Given the description of an element on the screen output the (x, y) to click on. 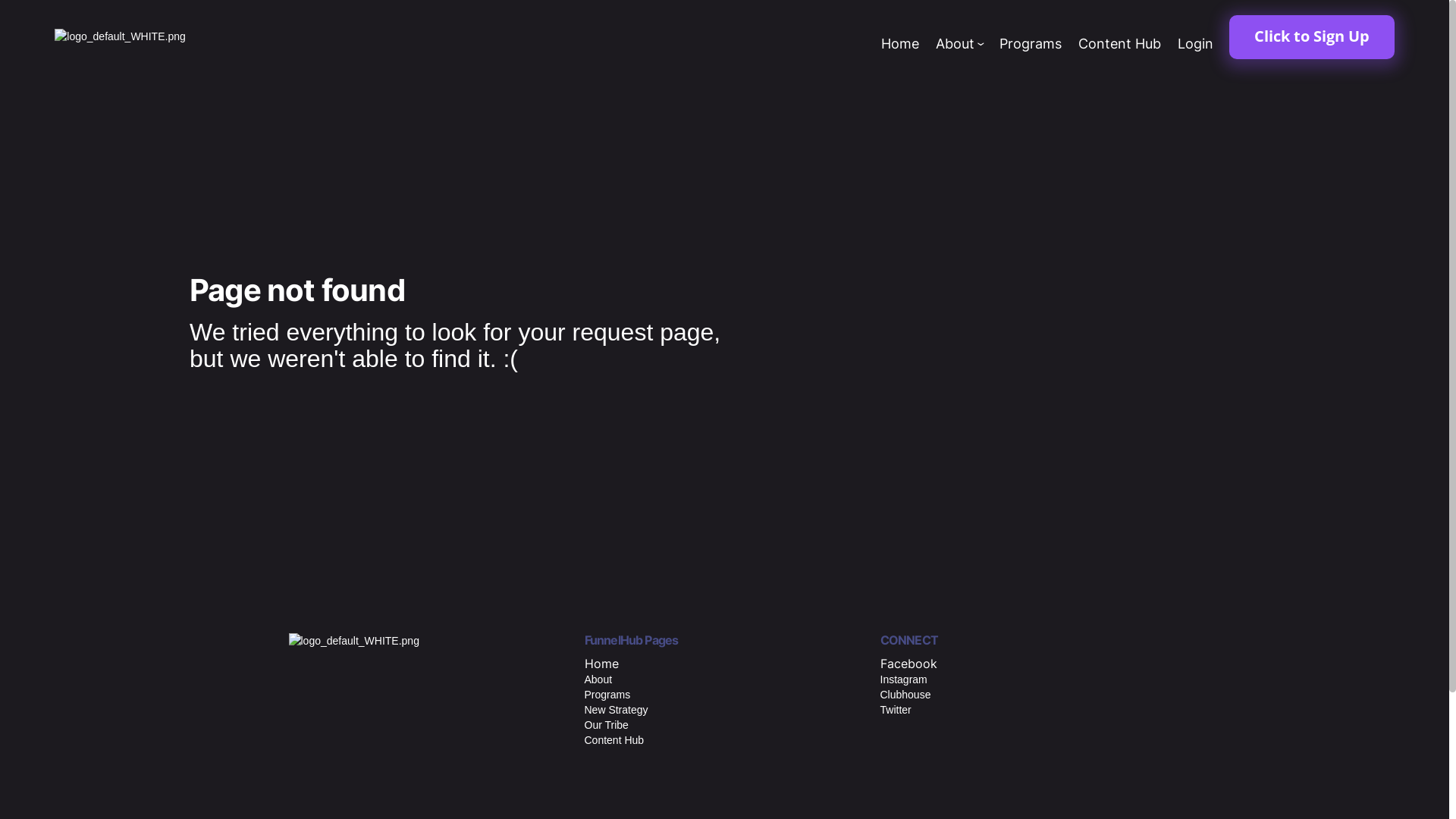
Home Element type: text (900, 43)
Click to Sign Up Element type: text (1311, 37)
Programs Element type: text (1030, 43)
Content Hub Element type: text (1119, 43)
About Element type: text (959, 43)
Login Element type: text (1195, 43)
